Given the description of an element on the screen output the (x, y) to click on. 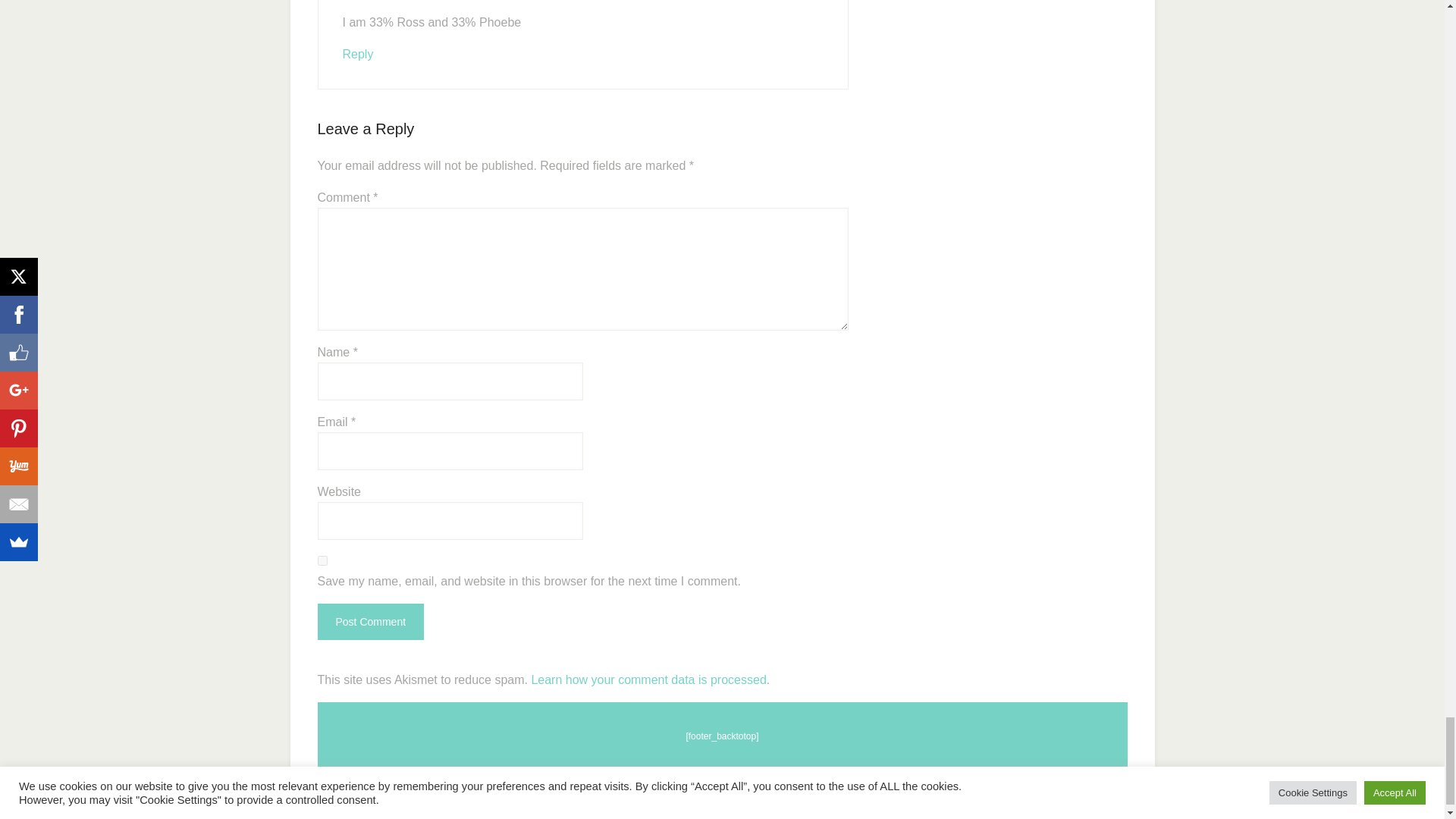
Post Comment (370, 621)
yes (321, 560)
